Given the description of an element on the screen output the (x, y) to click on. 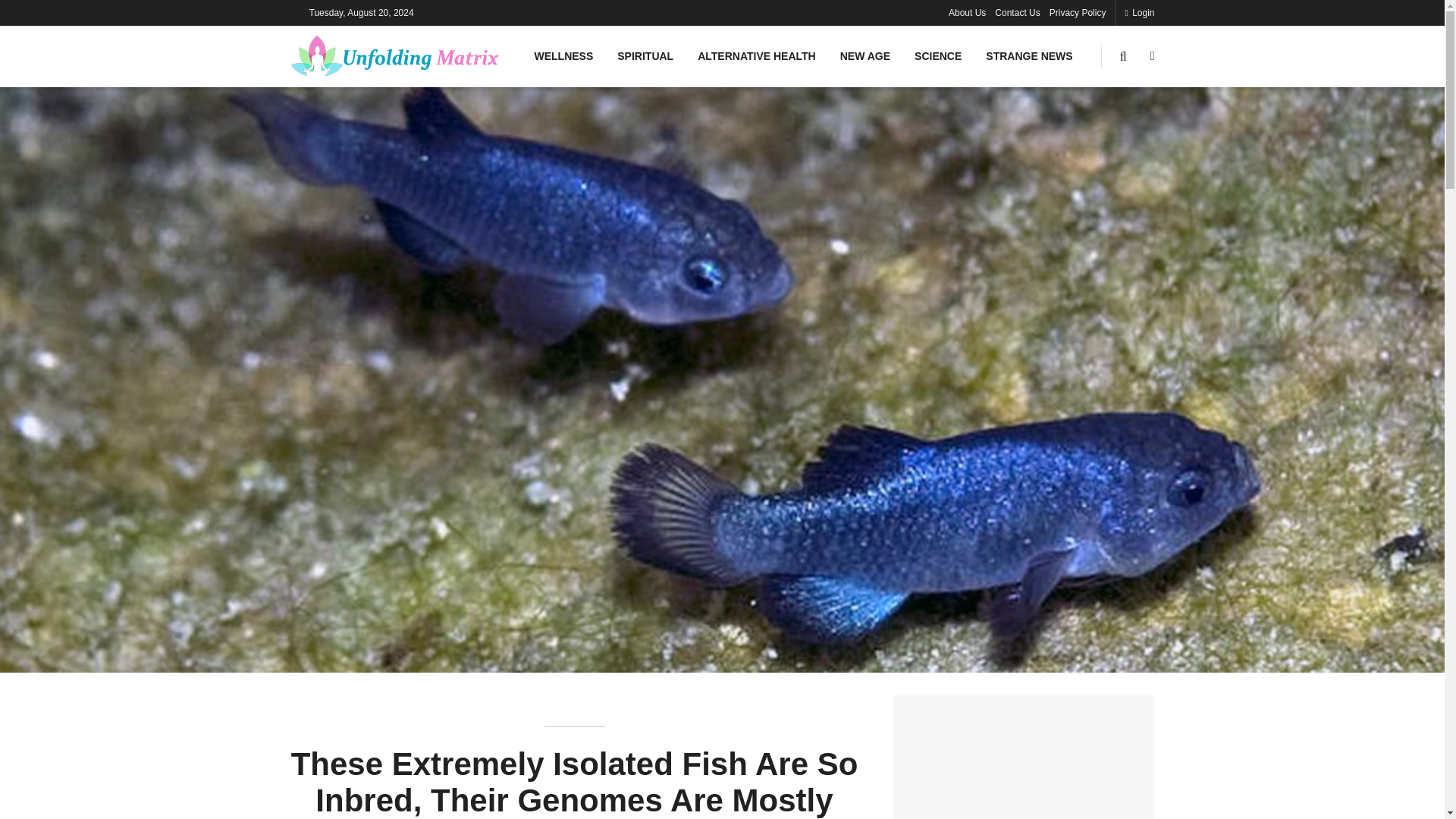
NEW AGE (865, 55)
Contact Us (1016, 12)
STRANGE NEWS (1029, 55)
SPIRITUAL (645, 55)
WELLNESS (563, 55)
SCIENCE (938, 55)
ALTERNATIVE HEALTH (756, 55)
Login (1139, 12)
Privacy Policy (1077, 12)
About Us (967, 12)
